Given the description of an element on the screen output the (x, y) to click on. 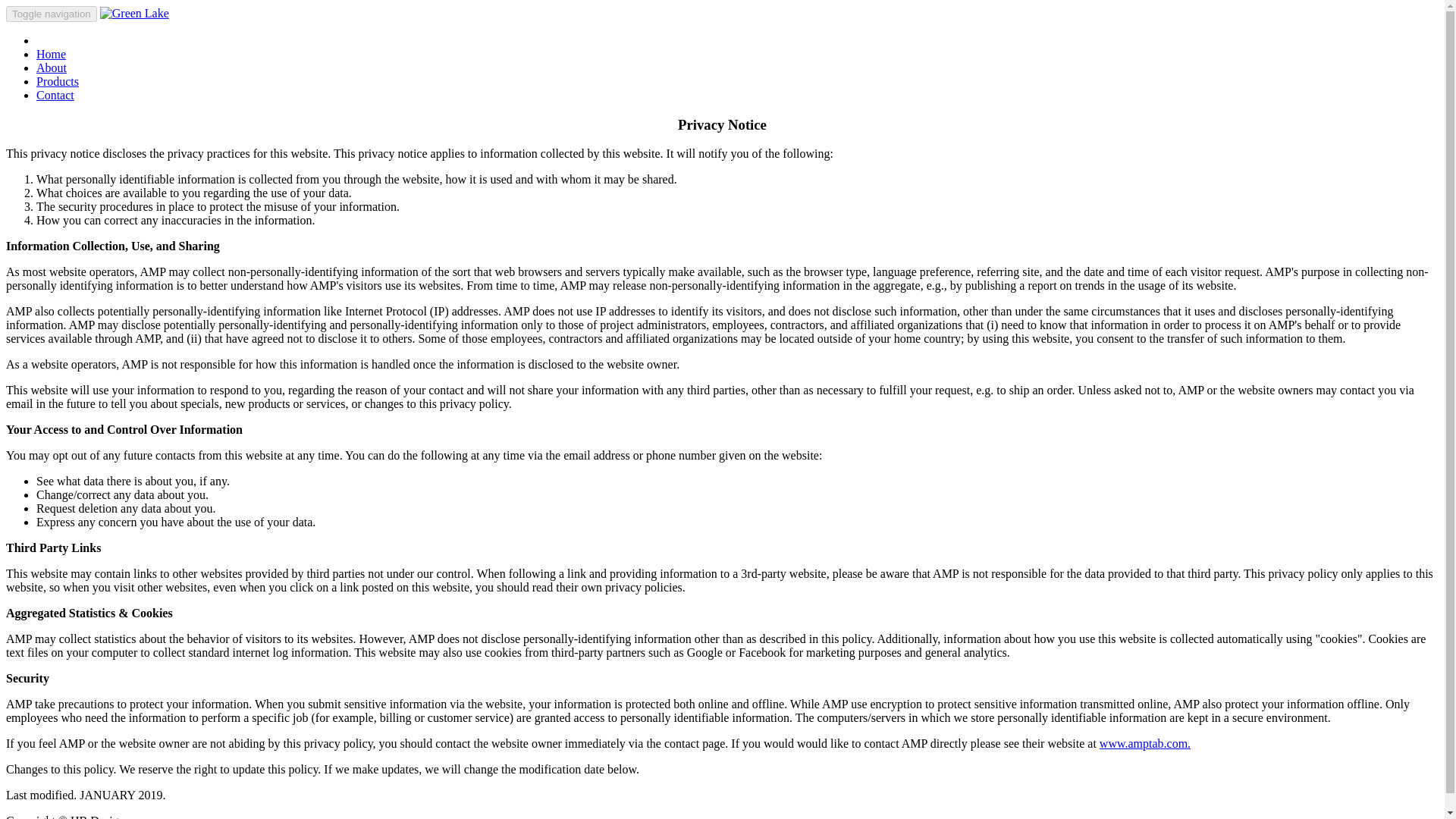
Home (50, 53)
Home (50, 53)
About (51, 67)
Toggle navigation (51, 13)
Products (57, 81)
Products (57, 81)
About (51, 67)
Contact (55, 94)
www.amptab.com. (1145, 743)
Contact (55, 94)
